Given the description of an element on the screen output the (x, y) to click on. 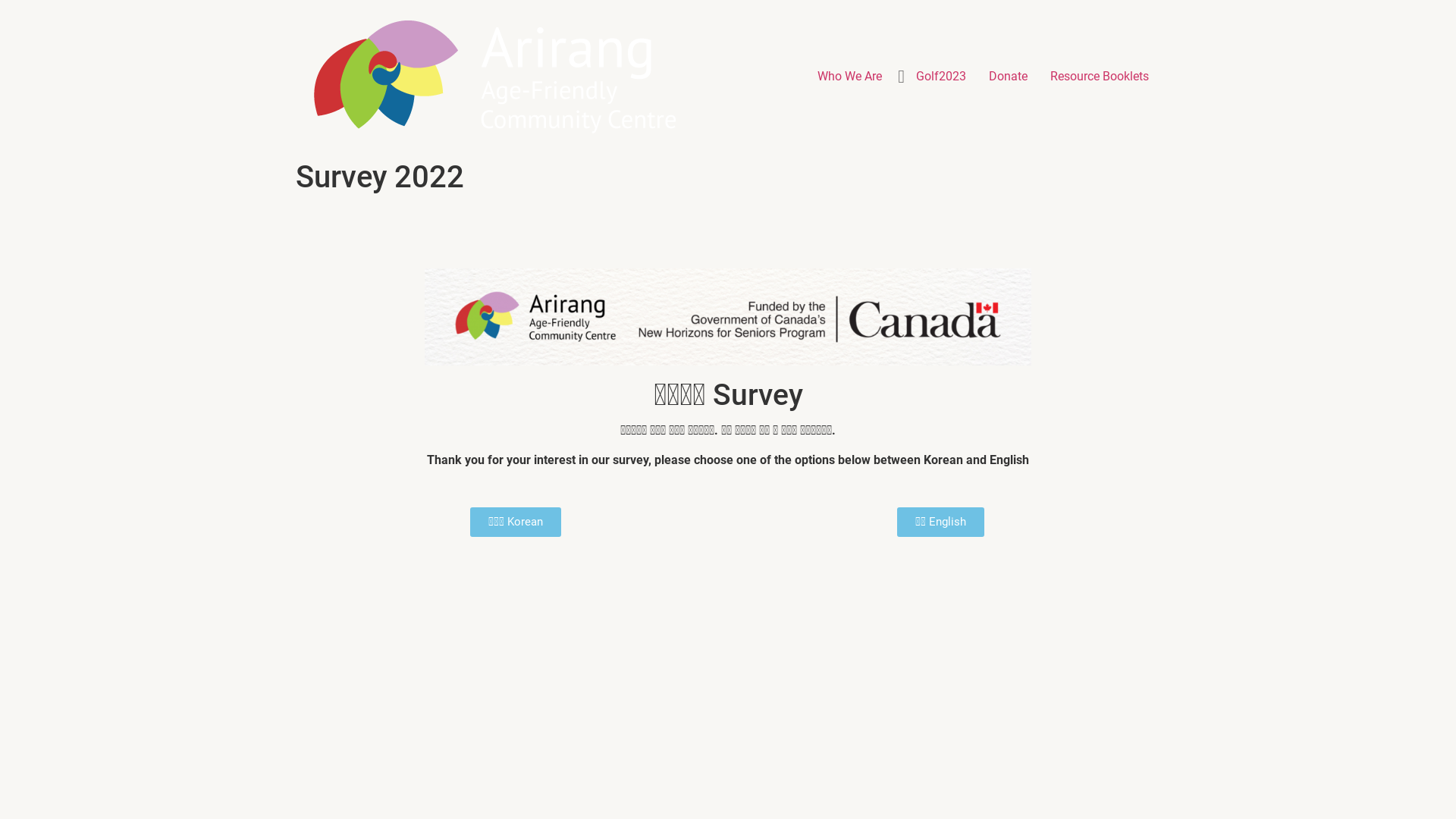
Resource Booklets Element type: text (1099, 76)
Who We Are Element type: text (849, 76)
Donate Element type: text (1007, 76)
Golf2023 Element type: text (940, 76)
